Given the description of an element on the screen output the (x, y) to click on. 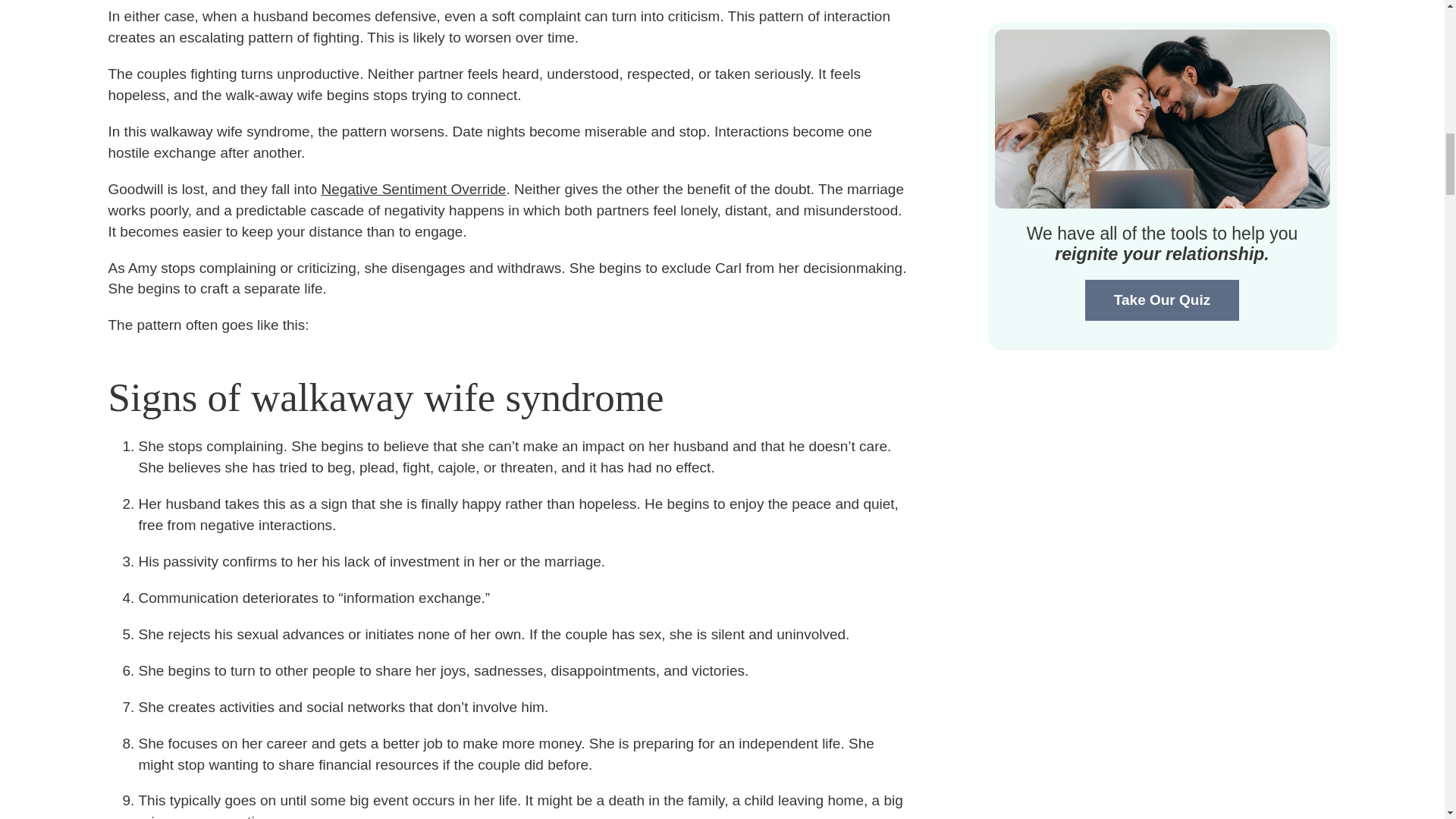
Negative Sentiment Override (412, 188)
